Given the description of an element on the screen output the (x, y) to click on. 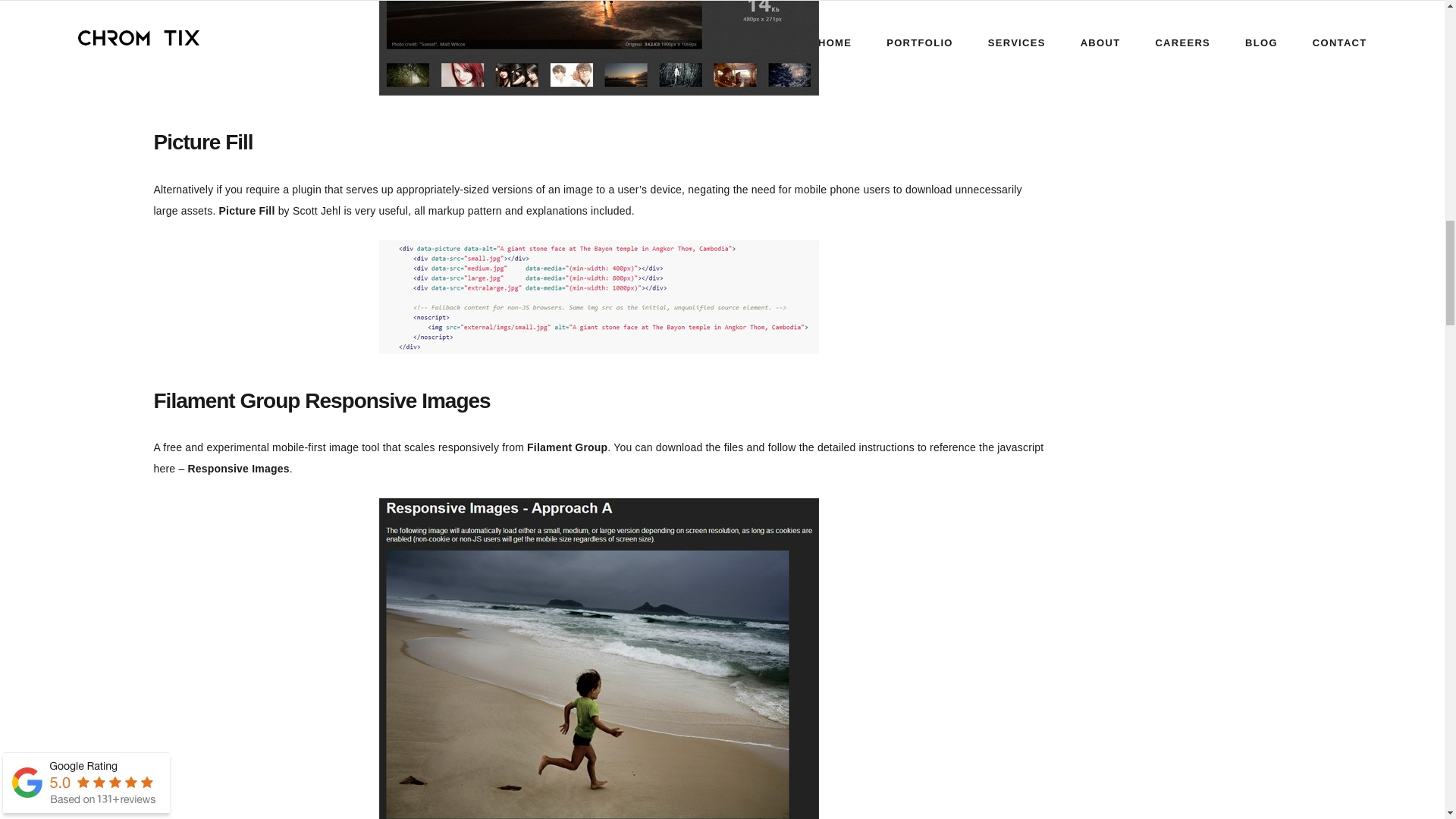
Responsive Images (238, 468)
Filament Group Responsive Images (320, 400)
Picture Fill (247, 210)
Picture Fill (201, 141)
Filament Group (567, 447)
